Given the description of an element on the screen output the (x, y) to click on. 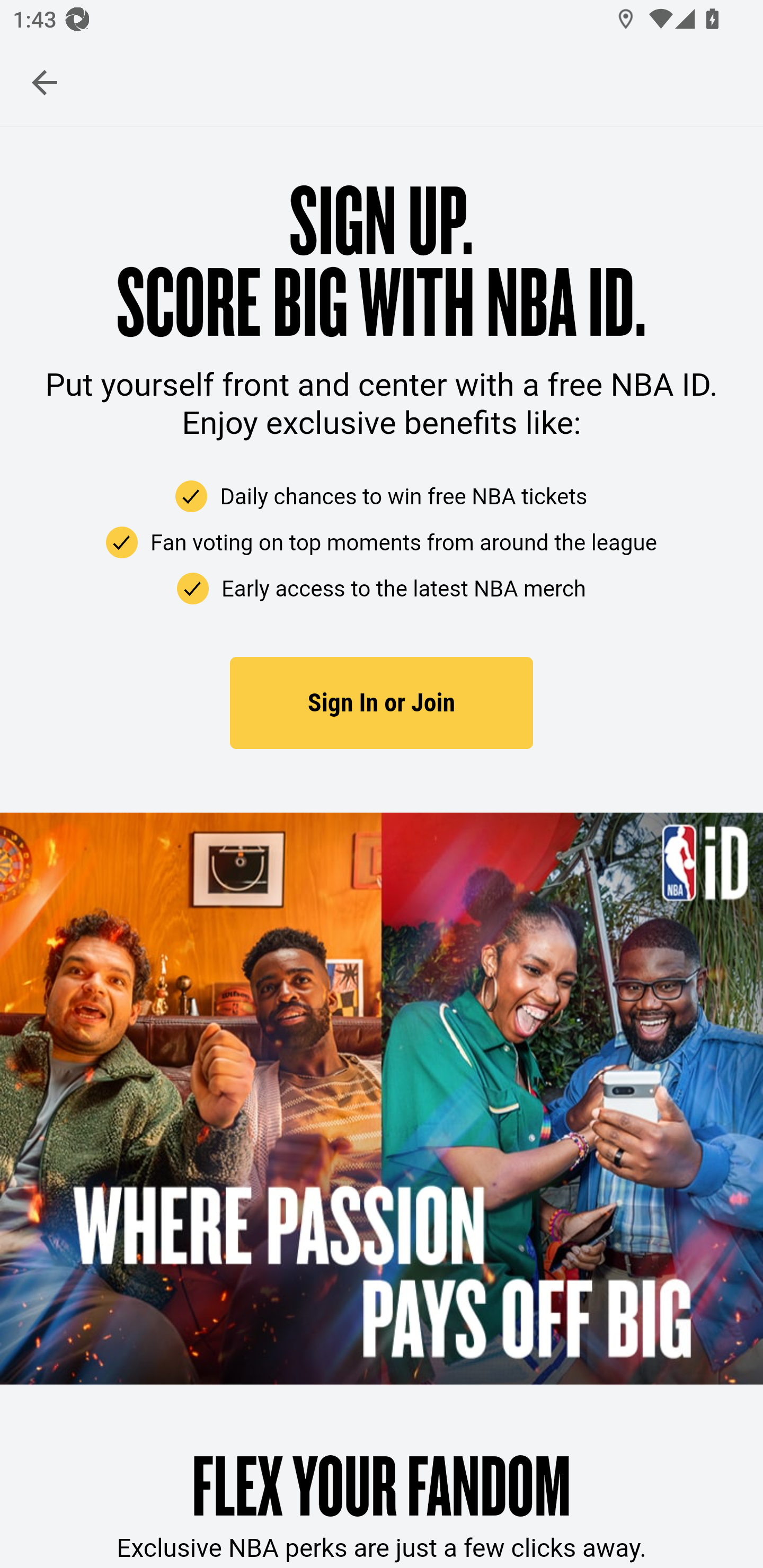
Navigate up (44, 82)
Sign In or Join (381, 702)
